Given the description of an element on the screen output the (x, y) to click on. 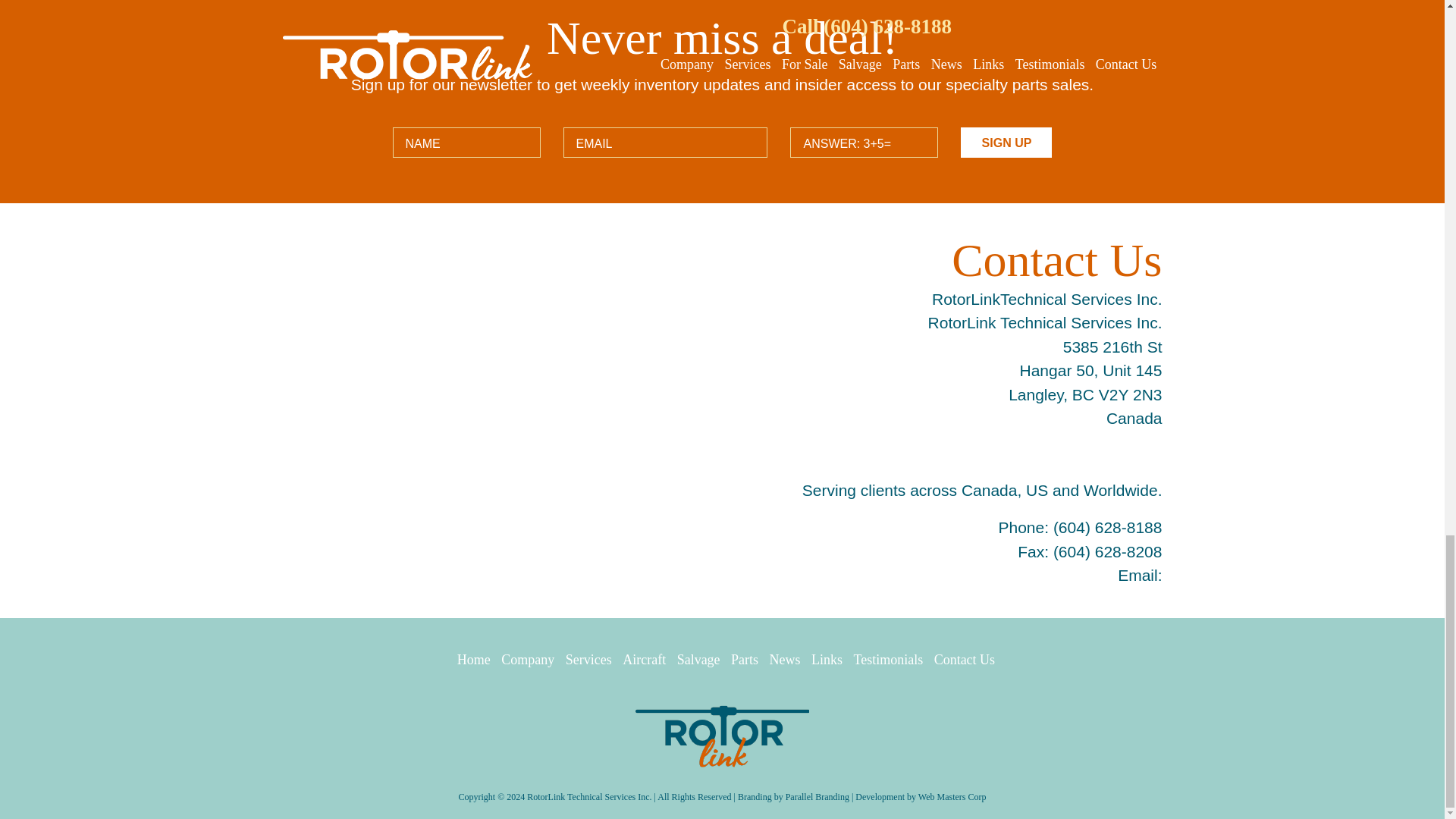
Services (584, 659)
SIGN UP (1005, 142)
Aircraft (639, 659)
Company (523, 659)
Salvage (694, 659)
Home (469, 659)
